Given the description of an element on the screen output the (x, y) to click on. 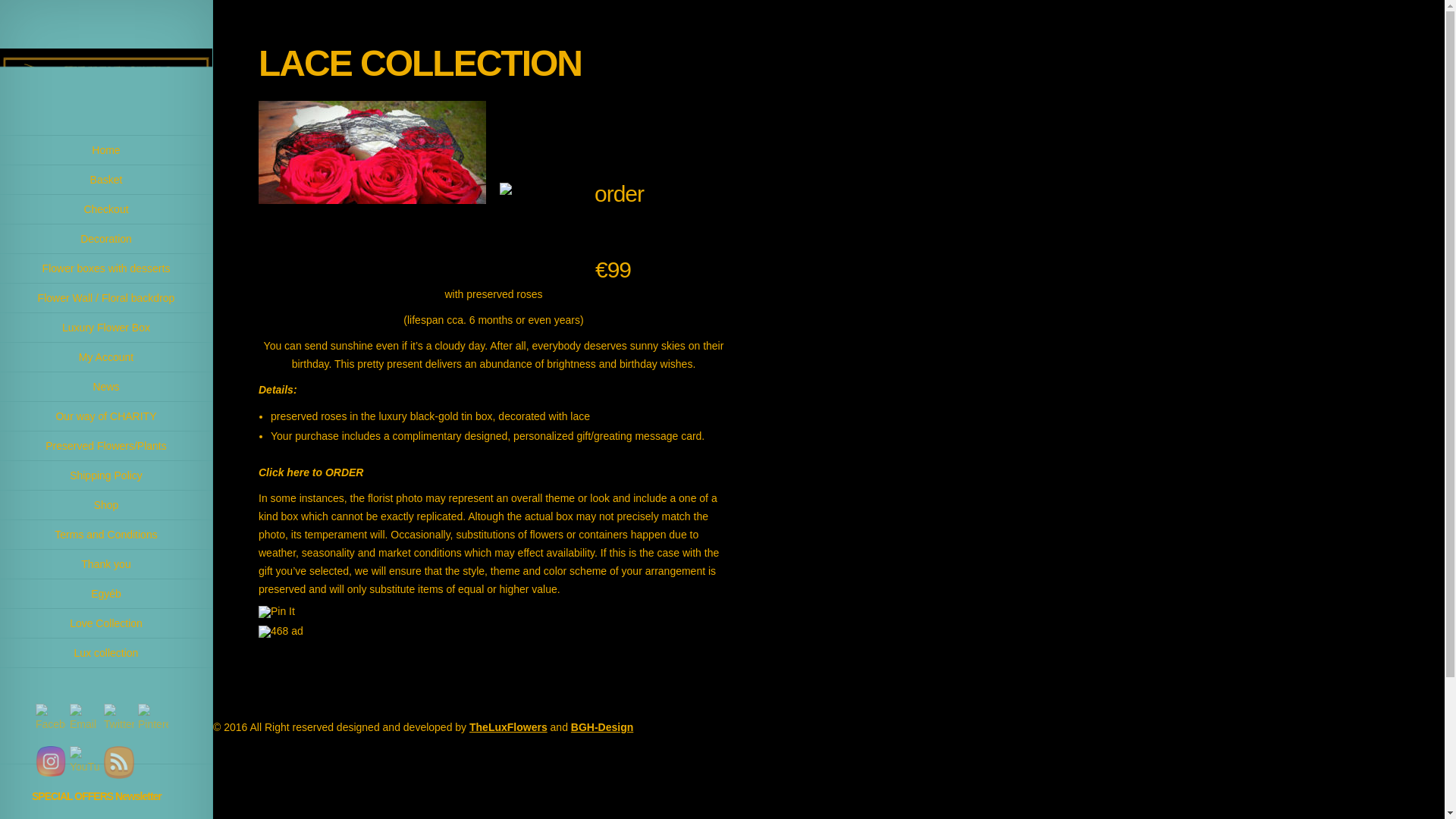
BGH-Design (601, 727)
Twitter (118, 717)
Flower boxes with desserts (106, 268)
News (106, 387)
Pinterest (153, 717)
Click here to ORDER (310, 472)
Our way of CHARITY (106, 416)
Basket (106, 179)
Luxury Flower Box (106, 327)
Terms and Conditions (106, 534)
